Given the description of an element on the screen output the (x, y) to click on. 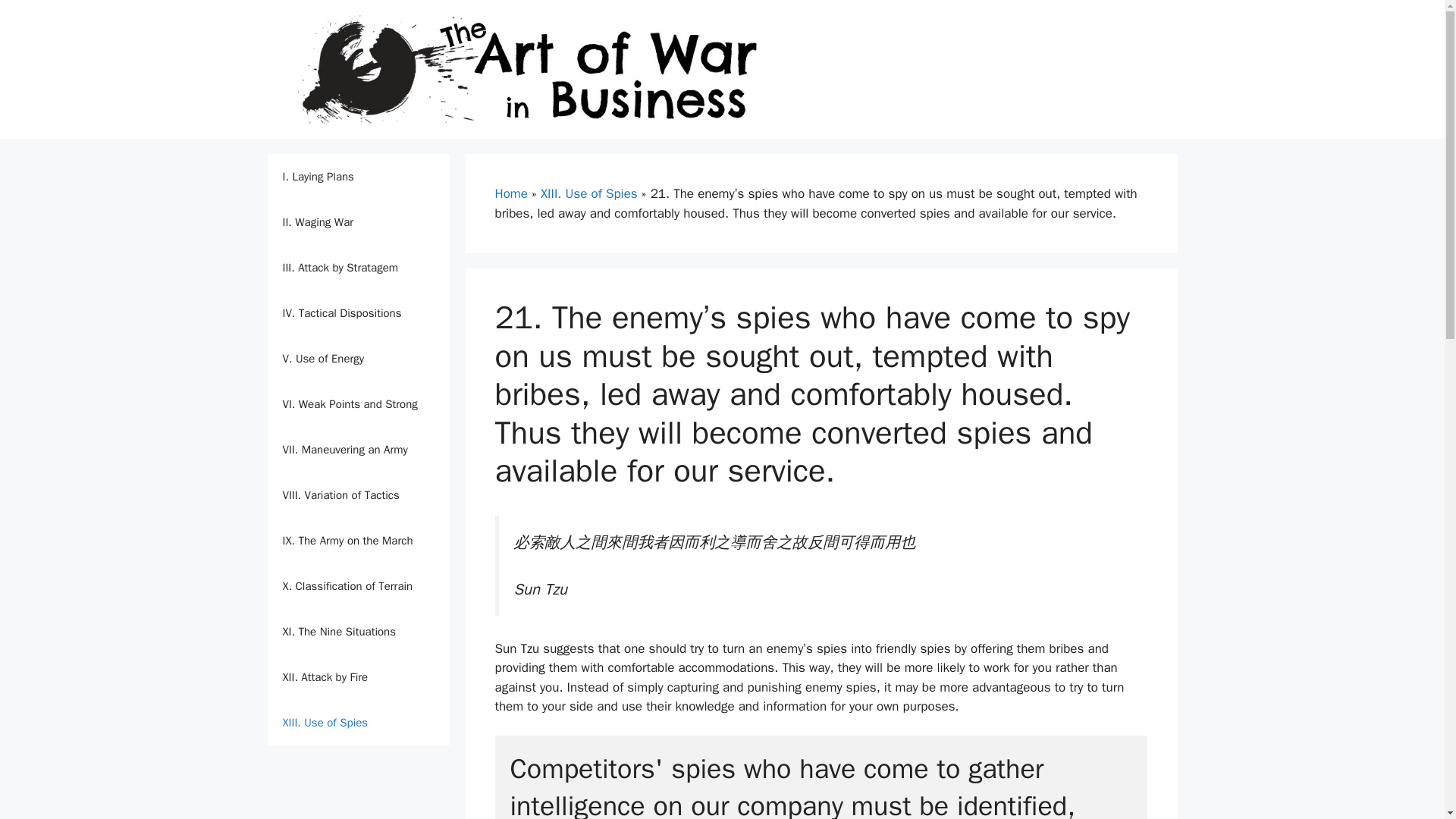
III. Attack by Stratagem (357, 267)
XII. Attack by Fire (357, 677)
I. Laying Plans (357, 176)
V. Use of Energy (357, 358)
VIII. Variation of Tactics (357, 494)
XIII. Use of Spies (588, 193)
II. Waging War (357, 221)
IV. Tactical Dispositions (357, 312)
X. Classification of Terrain (357, 586)
VI. Weak Points and Strong (357, 403)
